Given the description of an element on the screen output the (x, y) to click on. 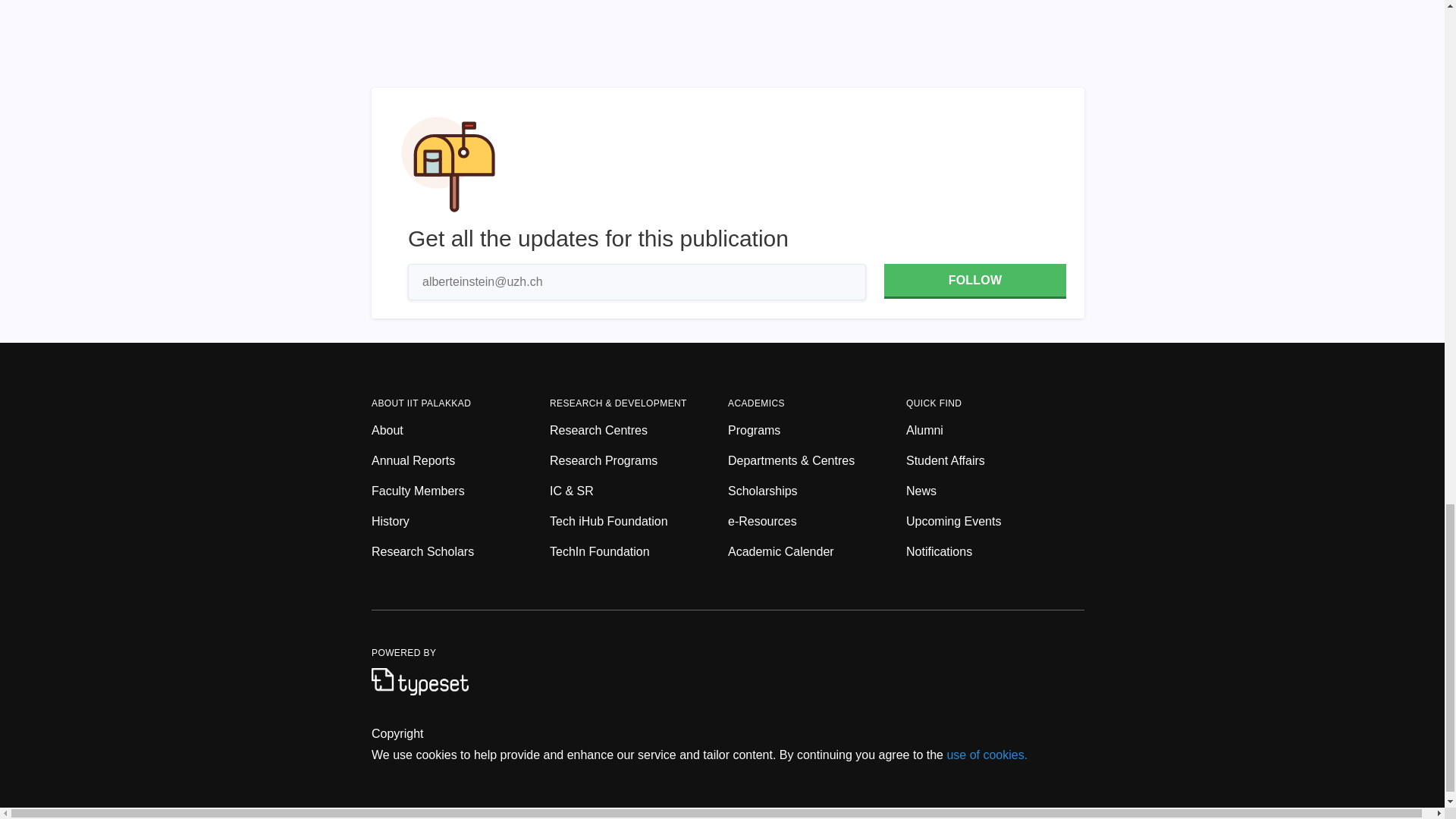
Research Programs (639, 461)
Alumni (994, 430)
Faculty Members (460, 491)
Academic Calender (816, 551)
Tech iHub Foundation (639, 521)
Logo of Typeset (419, 681)
TechIn Foundation (639, 551)
e-Resources (816, 521)
Subscribe form hero illustration (448, 164)
Research Centres (639, 430)
Annual Reports (460, 461)
Scholarships (816, 491)
About (460, 430)
Research Scholars (460, 551)
FOLLOW (974, 280)
